Given the description of an element on the screen output the (x, y) to click on. 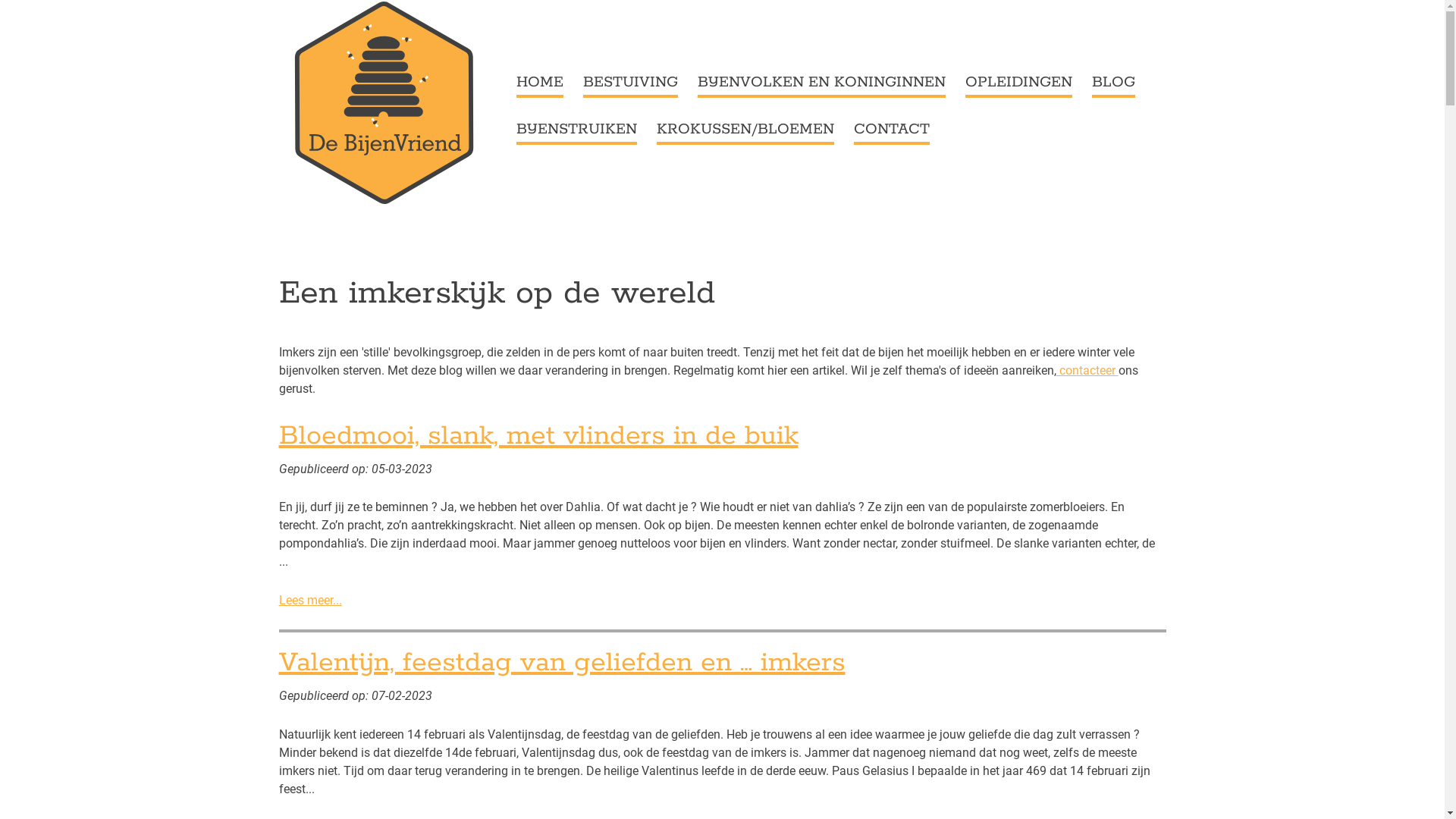
CONTACT Element type: text (891, 130)
Bloedmooi, slank, met vlinders in de buik Element type: text (538, 435)
HOME Element type: text (538, 83)
BLOG Element type: text (1113, 83)
KROKUSSEN/BLOEMEN Element type: text (745, 130)
Lees meer... Element type: text (310, 600)
BESTUIVING Element type: text (629, 83)
De Bijenvriend Website Element type: hover (381, 102)
BIJENSTRUIKEN Element type: text (575, 130)
contacteer Element type: text (1086, 370)
OPLEIDINGEN Element type: text (1017, 83)
BIJENVOLKEN EN KONINGINNEN Element type: text (821, 83)
